Given the description of an element on the screen output the (x, y) to click on. 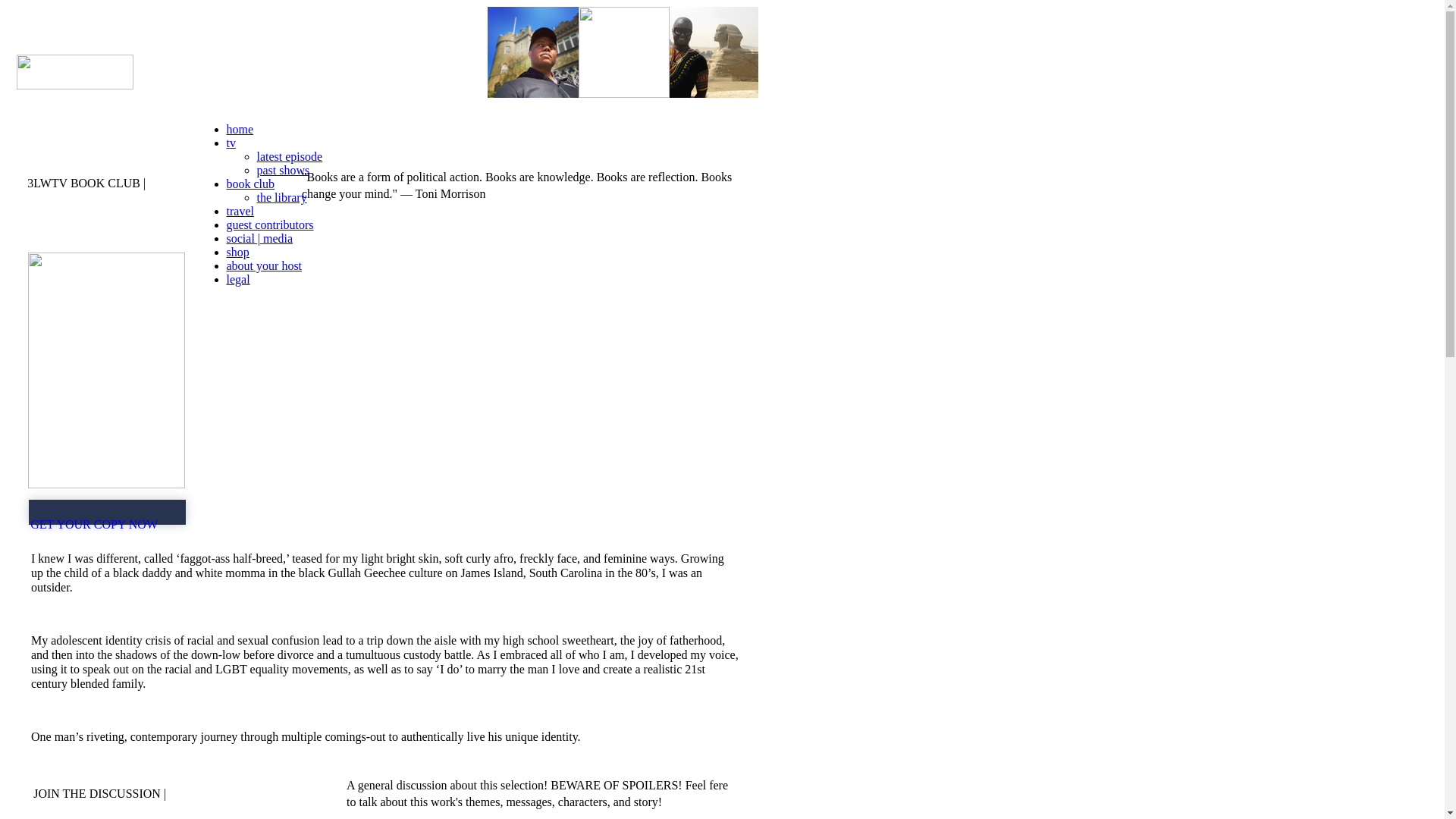
guest contributors Element type: text (269, 224)
book club Element type: text (249, 183)
the library Element type: text (281, 197)
social | media Element type: text (258, 238)
about your host Element type: text (263, 265)
shop Element type: text (236, 251)
travel Element type: text (239, 210)
home Element type: text (239, 128)
legal Element type: text (237, 279)
past shows Element type: text (282, 169)
latest episode Element type: text (289, 156)
tv Element type: text (230, 142)
